Given the description of an element on the screen output the (x, y) to click on. 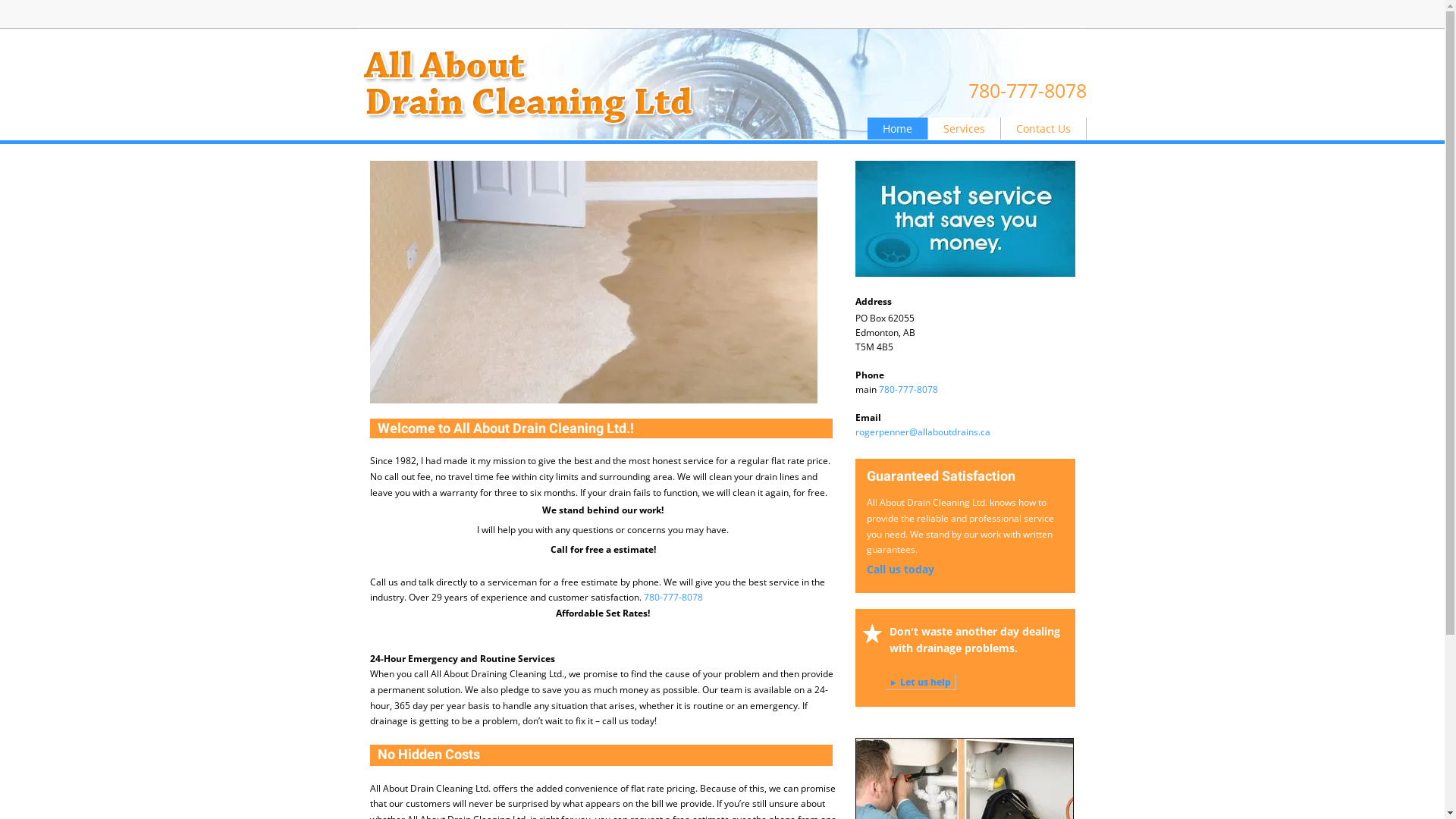
780-777-8078 Element type: text (1026, 90)
Call us today Element type: text (899, 569)
Embedded Content Element type: hover (1069, 17)
780-777-8078 Element type: text (672, 596)
Embedded Content Element type: hover (958, 17)
780-777-8078 Element type: text (907, 388)
Contact Us Element type: text (1043, 128)
Services Element type: text (964, 128)
rogerpenner@allaboutdrains.ca Element type: text (922, 431)
Home Element type: text (897, 128)
